Given the description of an element on the screen output the (x, y) to click on. 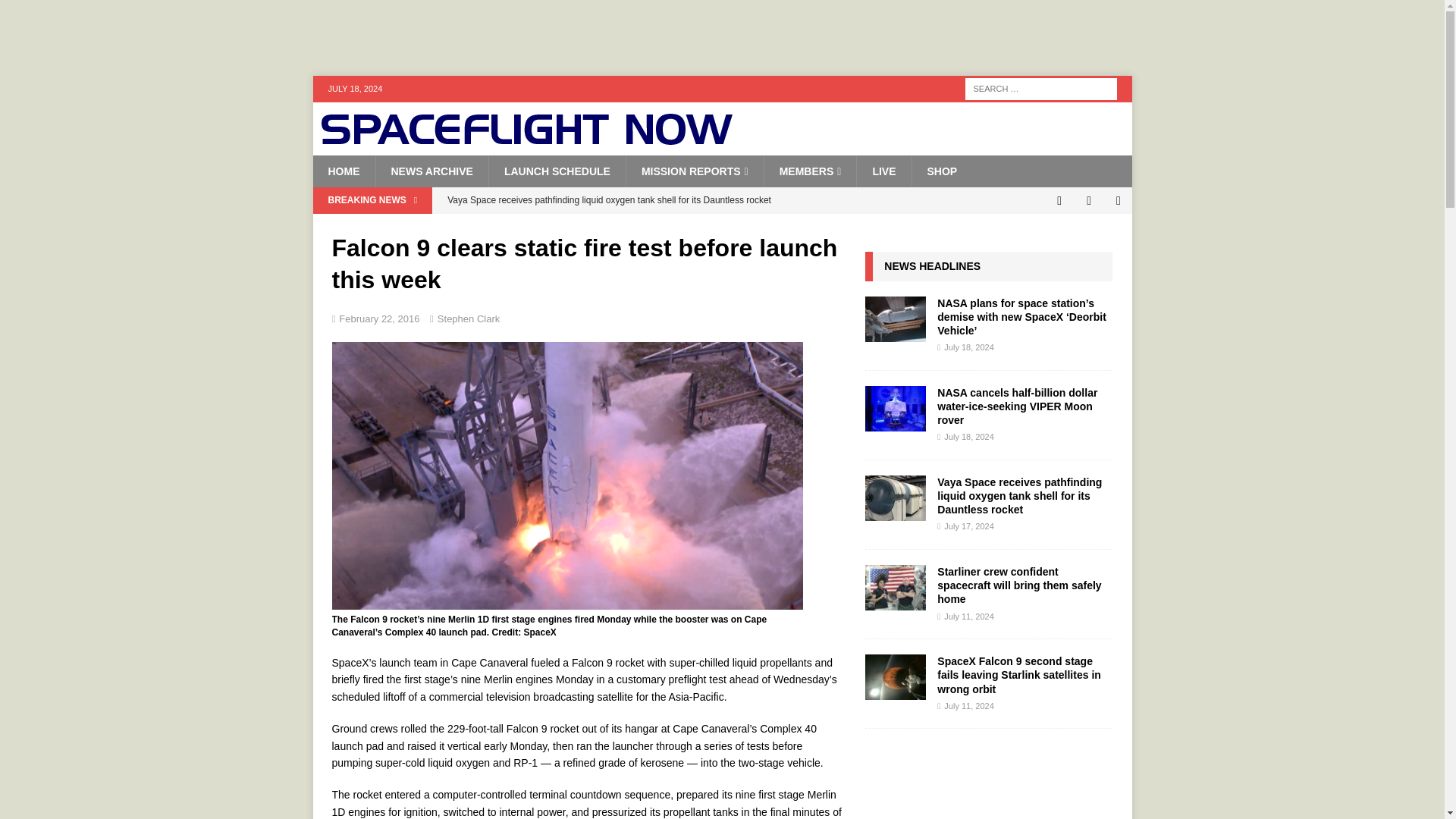
LAUNCH SCHEDULE (556, 171)
Spaceflight Now (526, 139)
MISSION REPORTS (694, 171)
NEWS ARCHIVE (430, 171)
HOME (343, 171)
Search (56, 11)
MEMBERS (809, 171)
